Given the description of an element on the screen output the (x, y) to click on. 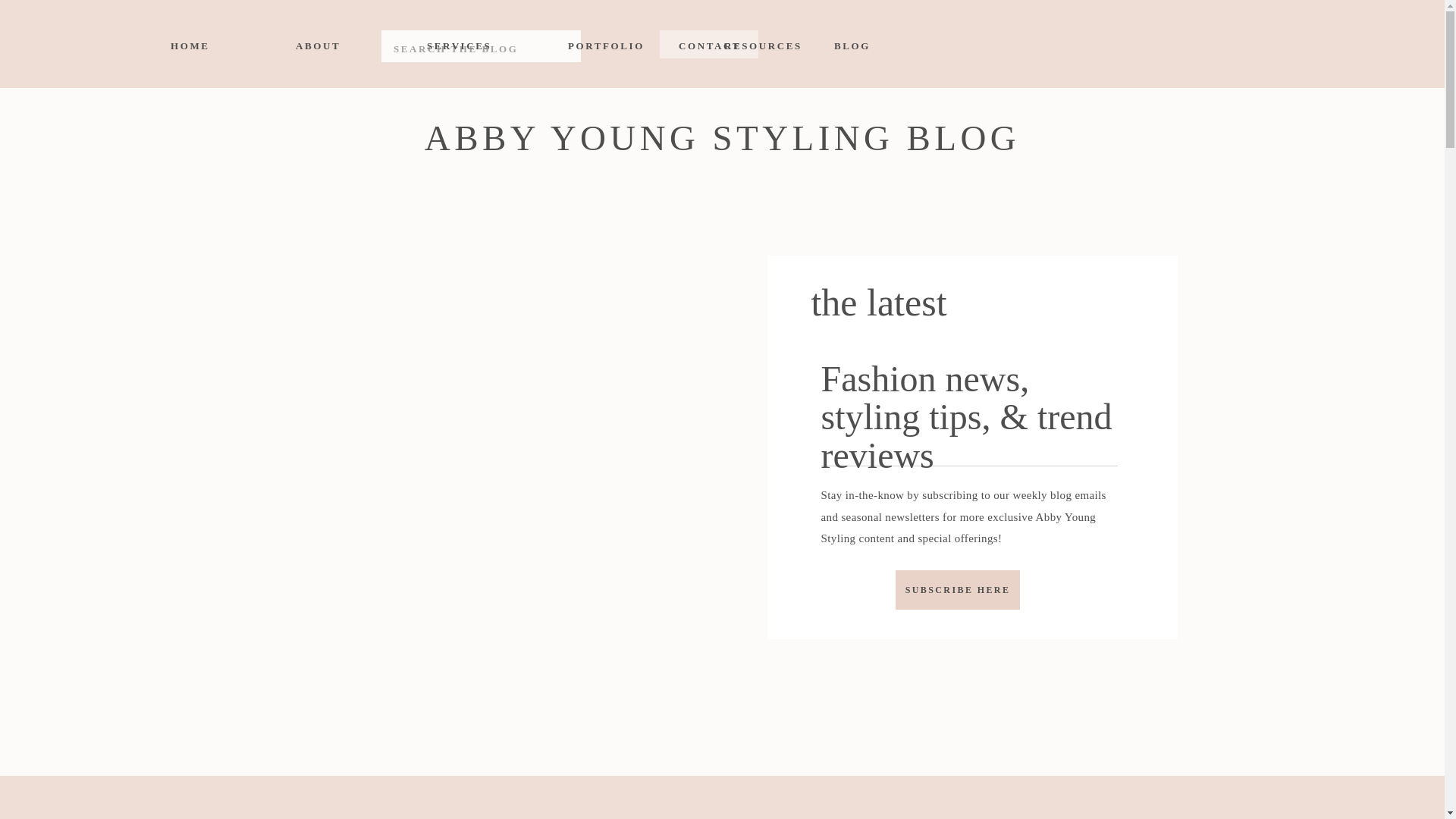
HOME (186, 43)
SERVICES (451, 43)
ABOUT (310, 43)
CONTACT (708, 43)
RESOURCES (762, 43)
SUBSCRIBE HERE (957, 588)
PORTFOLIO (605, 43)
BLOG (850, 43)
